Given the description of an element on the screen output the (x, y) to click on. 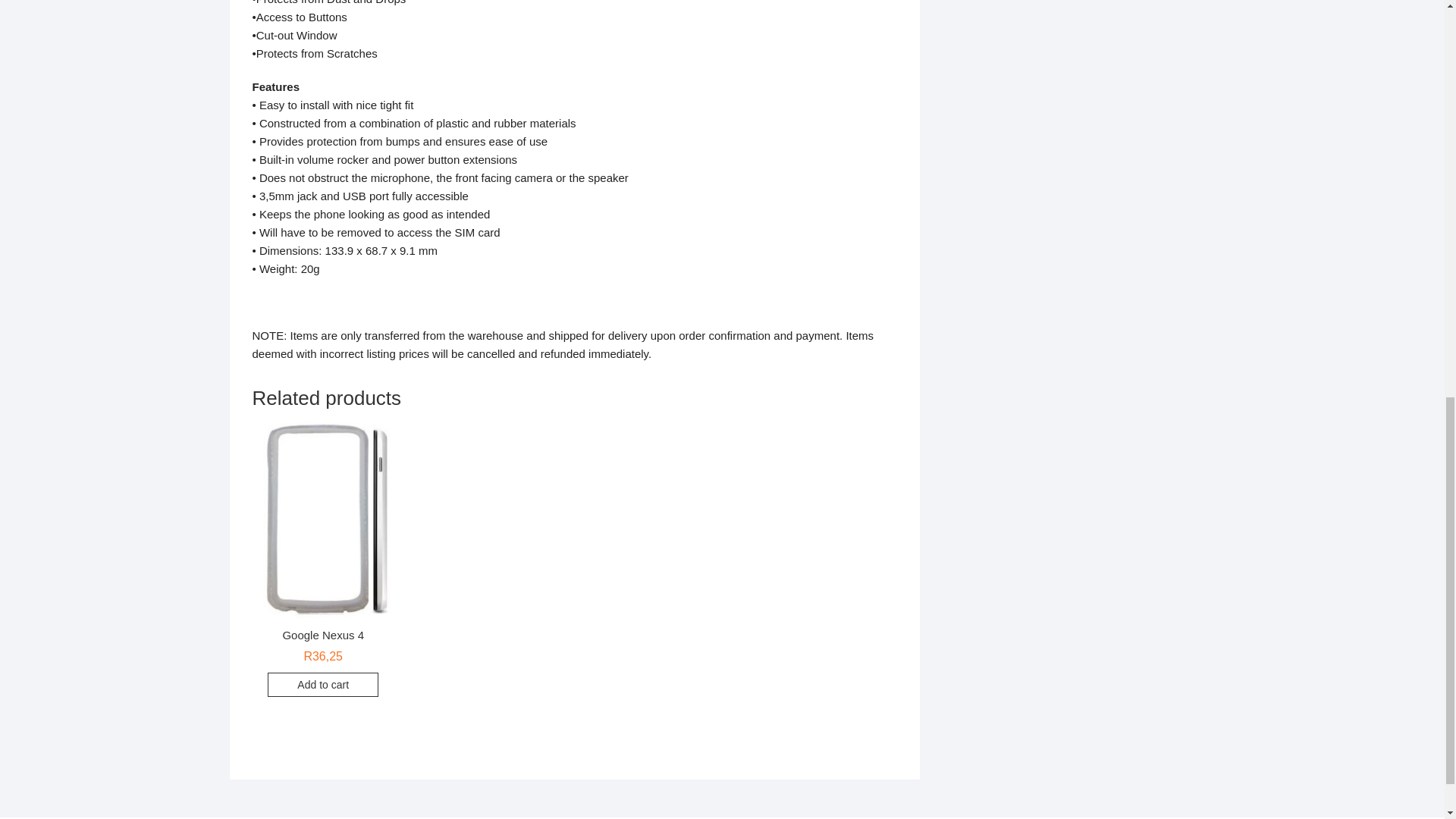
Add to cart (322, 684)
